Given the description of an element on the screen output the (x, y) to click on. 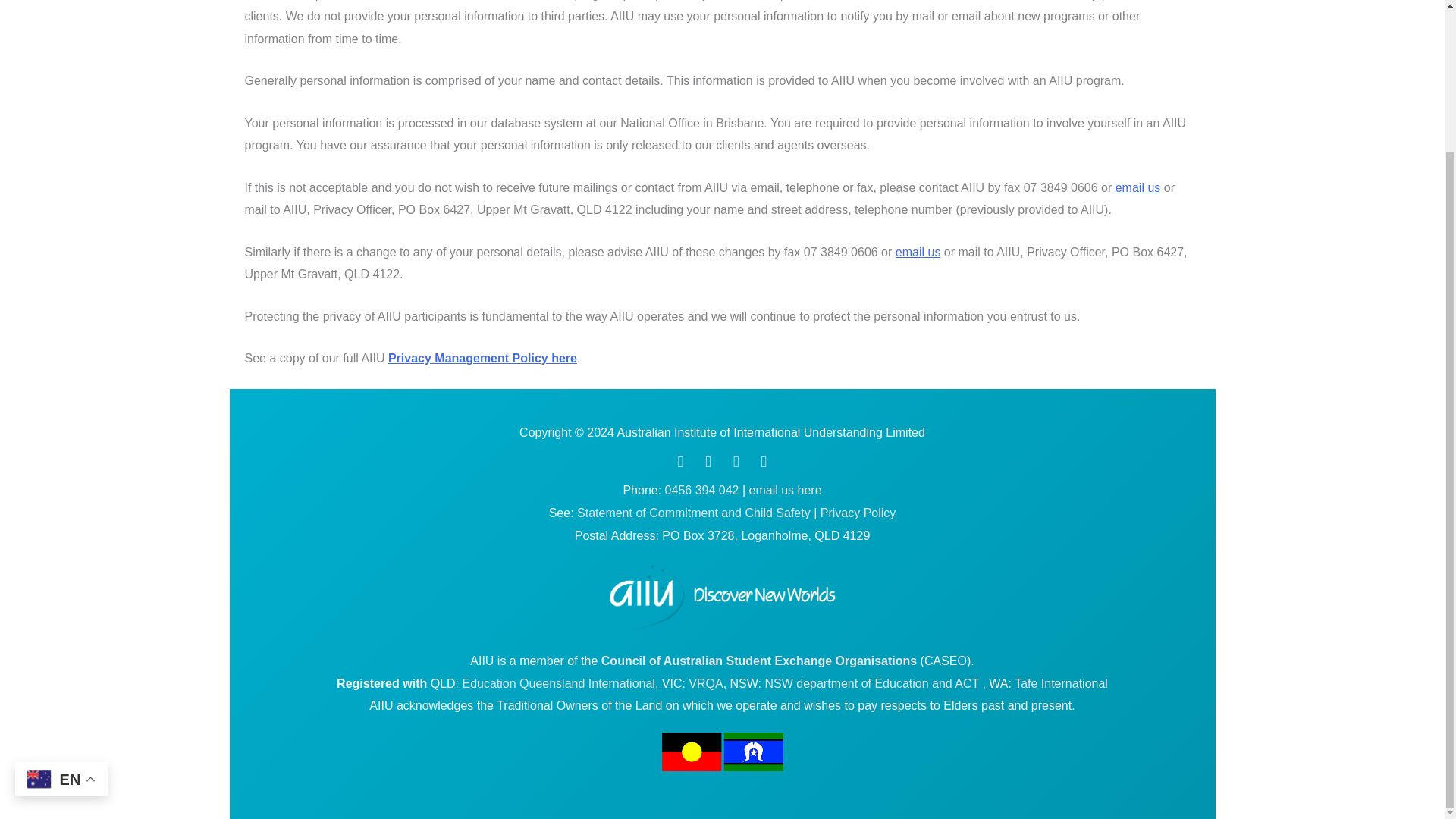
Tafe International (1061, 683)
0456 394 042 (702, 490)
Privacy Policy (858, 512)
Statement of Commitment and Child Safety (693, 512)
email us (917, 251)
email us here (785, 490)
AIIU (721, 597)
NSW department of Education and ACT (872, 683)
Education Queensland International (557, 683)
Council of Australian Student Exchange Organisations (759, 660)
email us (1137, 187)
Privacy Management Policy here (482, 358)
VRQA (705, 683)
